Given the description of an element on the screen output the (x, y) to click on. 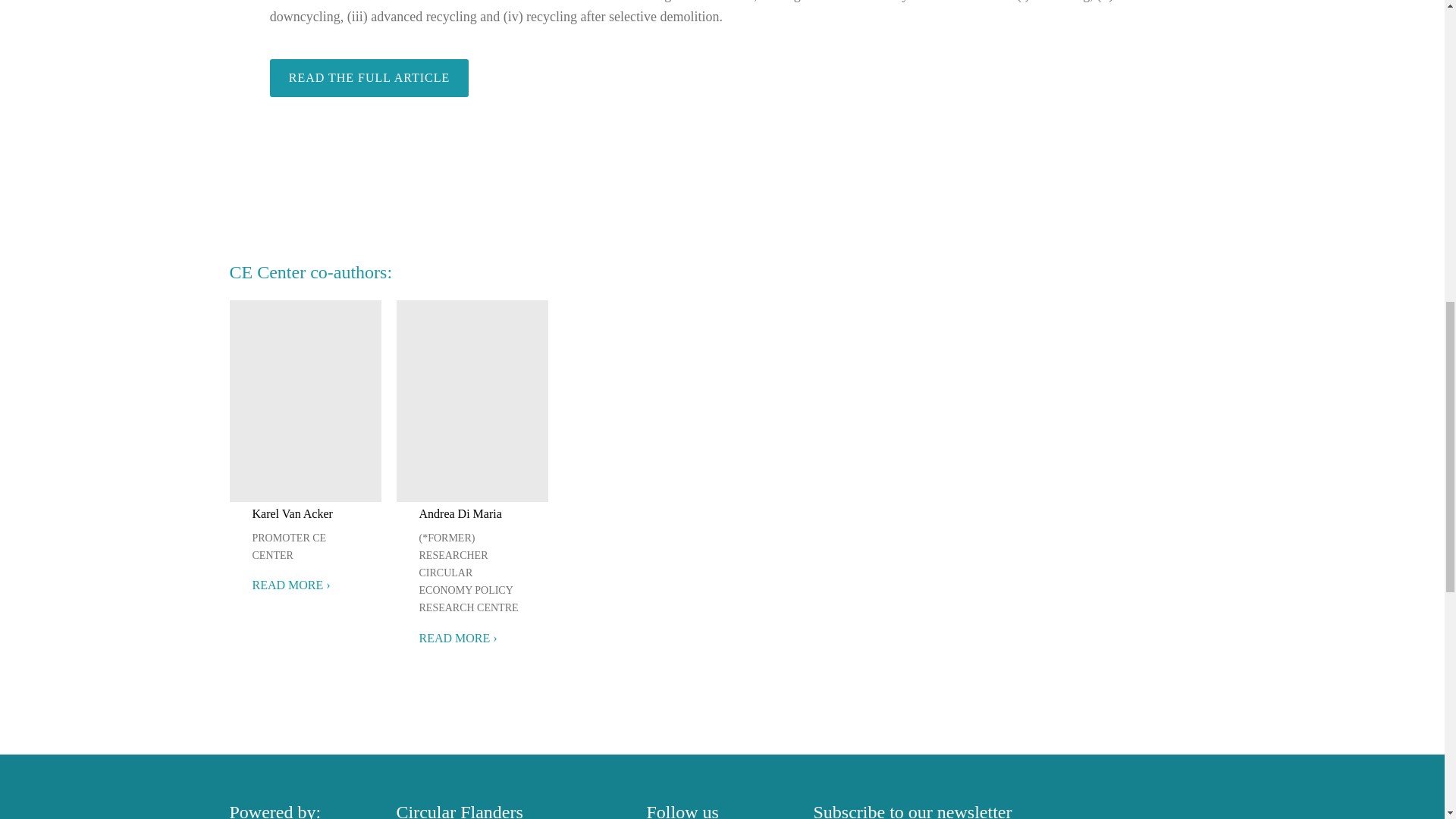
Karel Van Acker (291, 513)
Andrea Di Maria (459, 513)
READ THE FULL ARTICLE (368, 77)
Andrea  Di Maria (459, 513)
Karel Van Acker (291, 513)
